Given the description of an element on the screen output the (x, y) to click on. 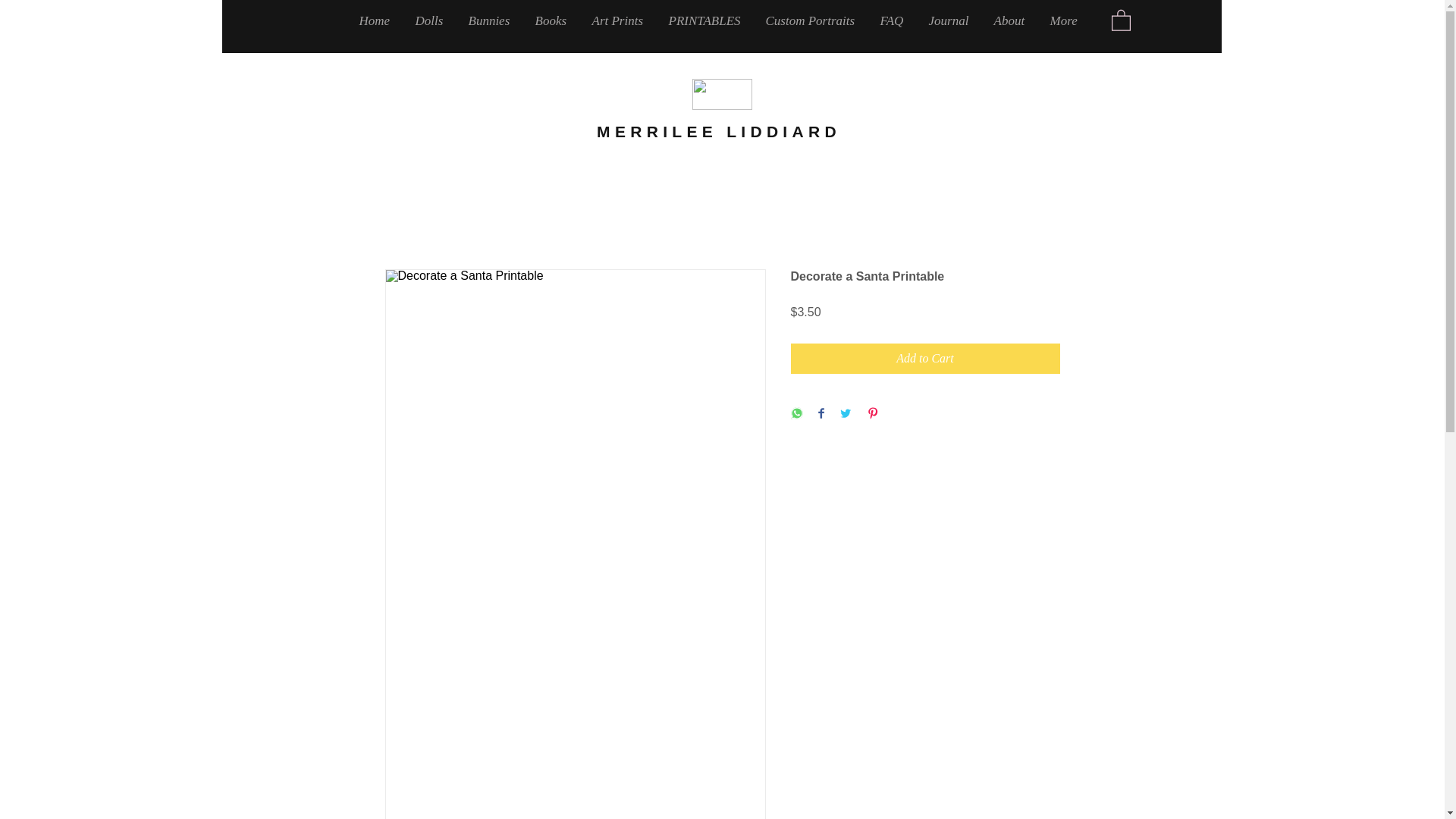
Custom Portraits (810, 20)
FAQ (893, 20)
Home (375, 20)
Art Prints (619, 20)
Books (550, 20)
Dolls (430, 20)
Bunnies (489, 20)
About (1010, 20)
PRINTABLES (705, 20)
MERRILEE LIDDIARD (718, 131)
